Given the description of an element on the screen output the (x, y) to click on. 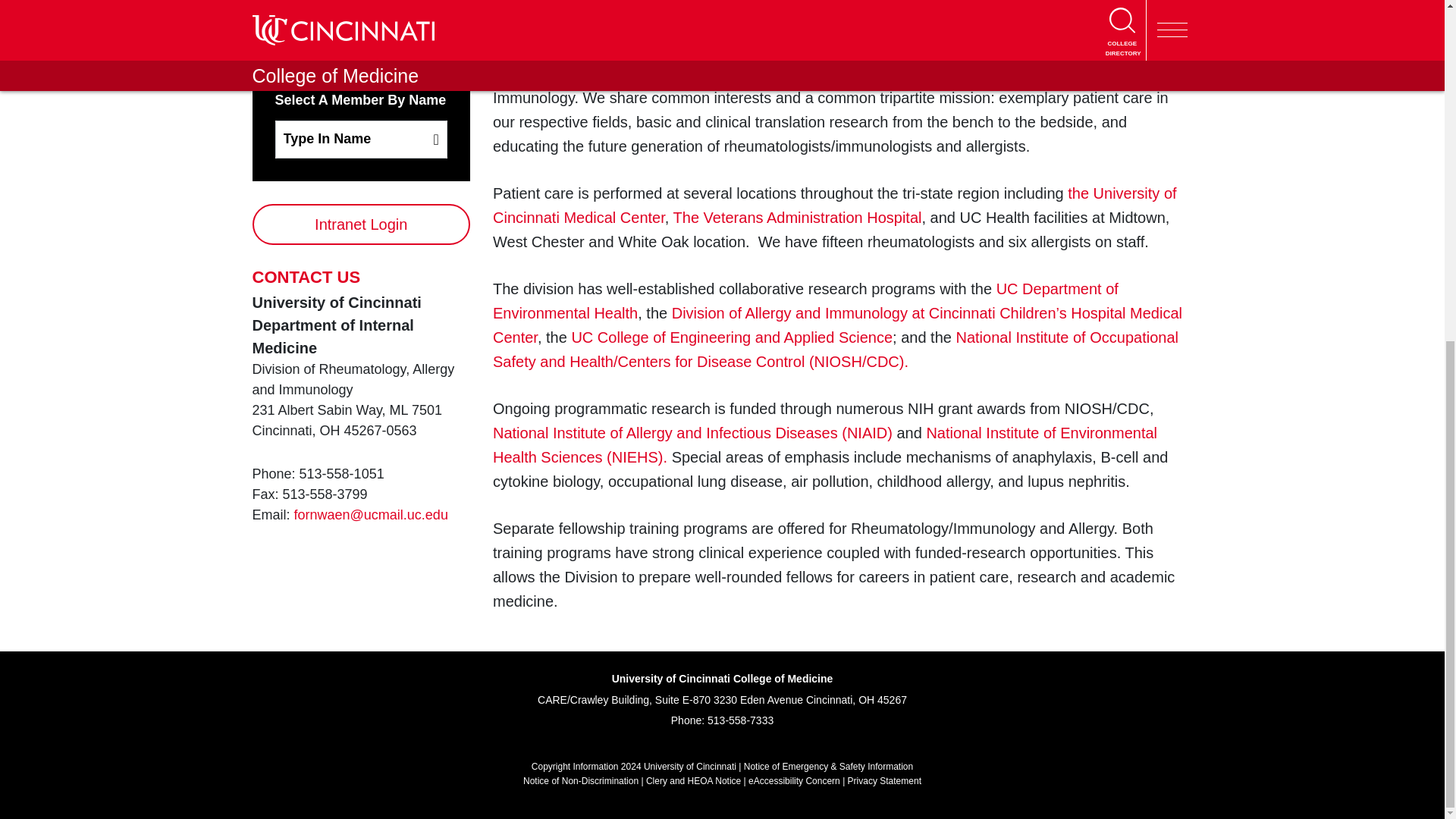
NIH Website (692, 433)
CDC Website (835, 349)
Email the Division of Rheumatology, Allergy and Immunology (371, 514)
Children's Division of Allergy and Immunology Website (837, 324)
UC Environmental Health Website (805, 300)
NIEHS Website (825, 445)
UC College of Engineering and Applied Science Website (731, 337)
